Given the description of an element on the screen output the (x, y) to click on. 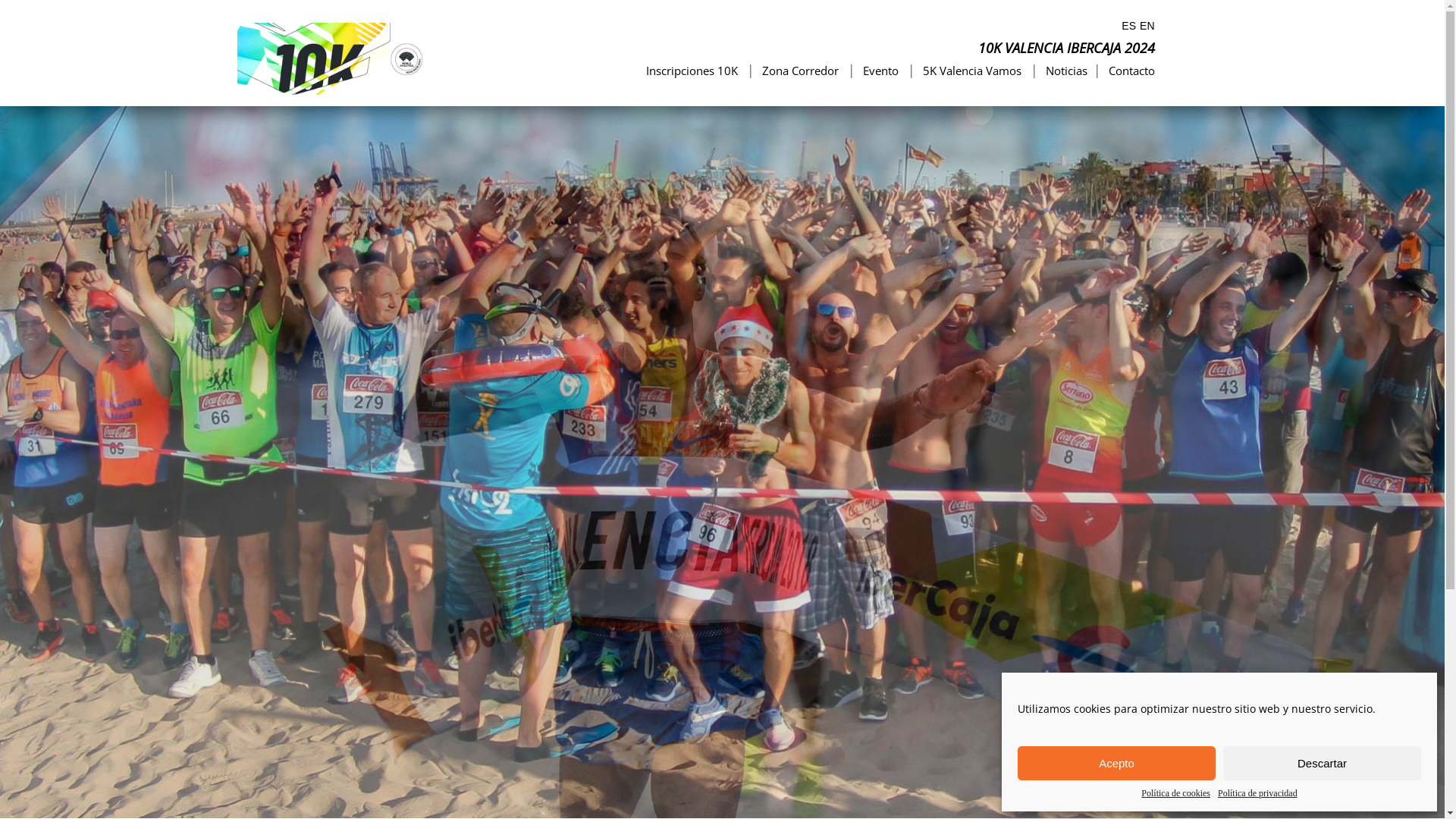
Noticias Element type: text (1065, 70)
5K Valencia Vamos Element type: text (971, 70)
Contacto Element type: text (1131, 70)
ES Element type: text (1128, 25)
EN Element type: text (1146, 25)
Acepto Element type: text (1116, 763)
Descartar Element type: text (1322, 763)
10K VALENCIA IBERCAJA 2024 Element type: text (1066, 44)
Inscripciones 10K Element type: text (691, 70)
Zona Corredor Element type: text (799, 70)
Evento Element type: text (880, 70)
